Given the description of an element on the screen output the (x, y) to click on. 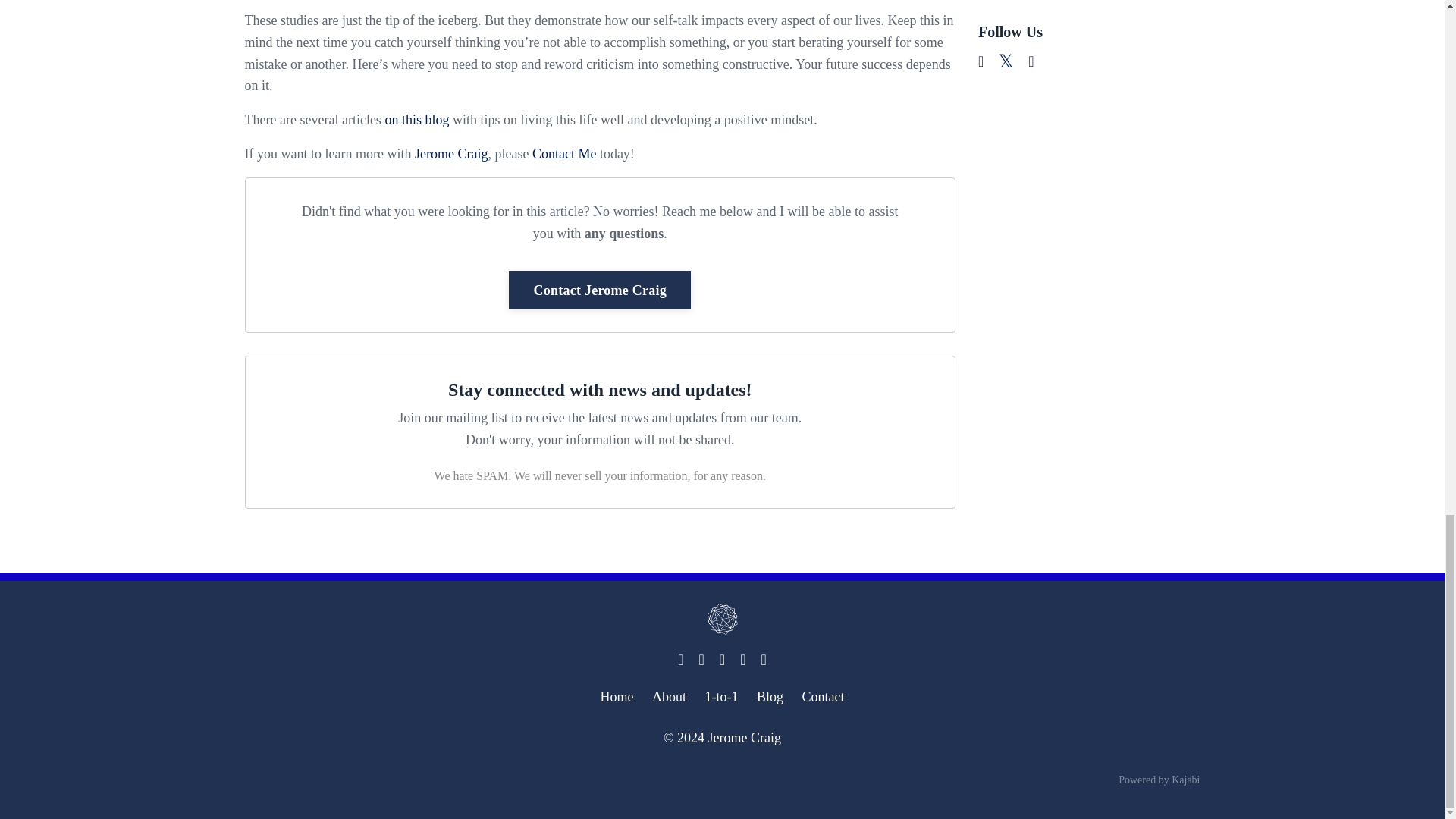
Jerome Craig (450, 153)
Contact Me (563, 153)
on this blog (416, 119)
Contact Jerome Craig (599, 290)
